Given the description of an element on the screen output the (x, y) to click on. 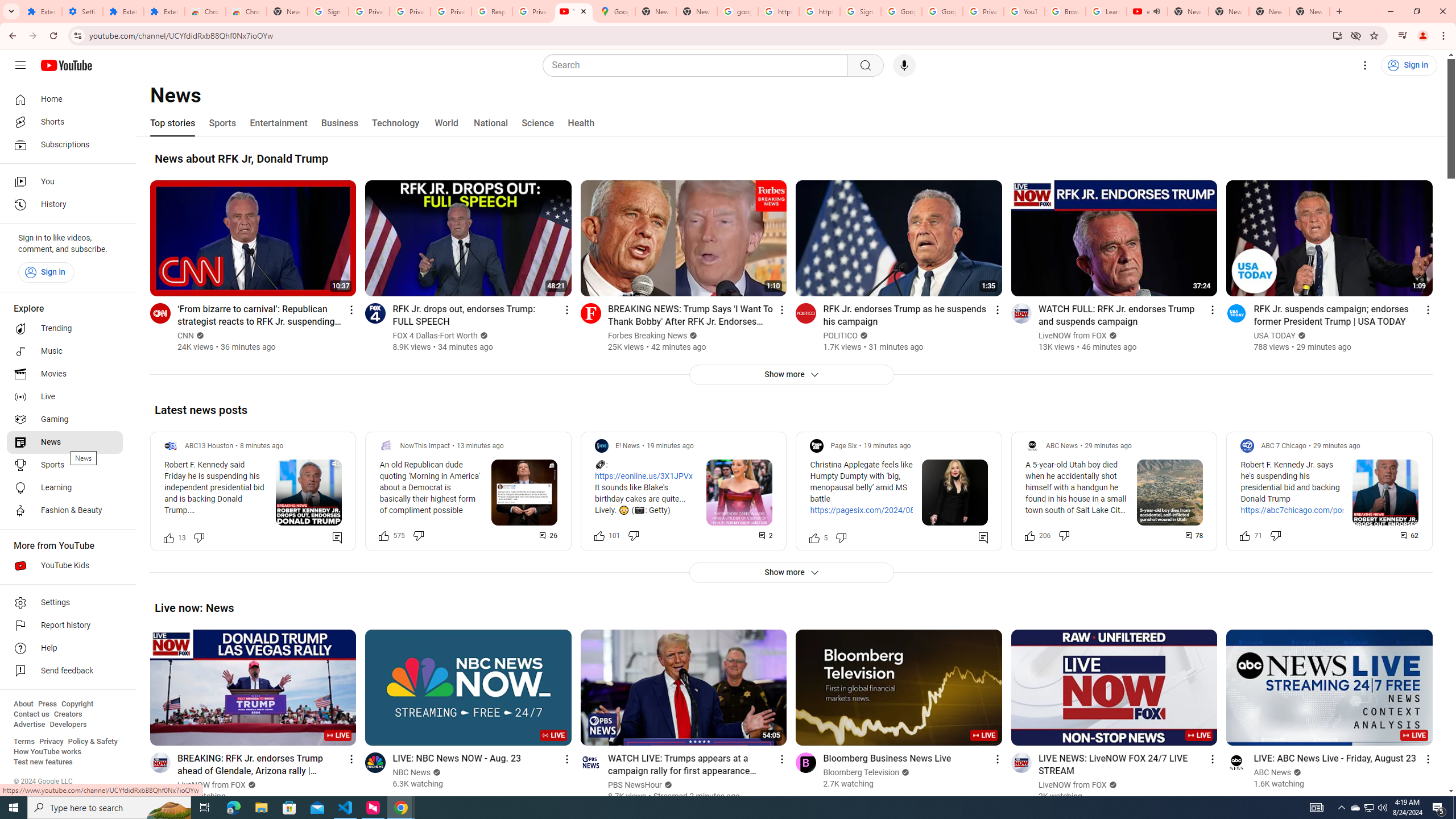
Gaming (64, 419)
How YouTube works (47, 751)
Bloomberg Television (860, 772)
Install YouTube (1336, 35)
Like this post along with 71 other people (1245, 534)
FOX 4 Dallas-Fort Worth (436, 335)
Guide (20, 65)
https://abc7chicago.com/post/rfk-jr-w... (1302, 515)
Like this post along with 206 other people (1029, 534)
Sign in - Google Accounts (327, 11)
NBC News (411, 772)
